Given the description of an element on the screen output the (x, y) to click on. 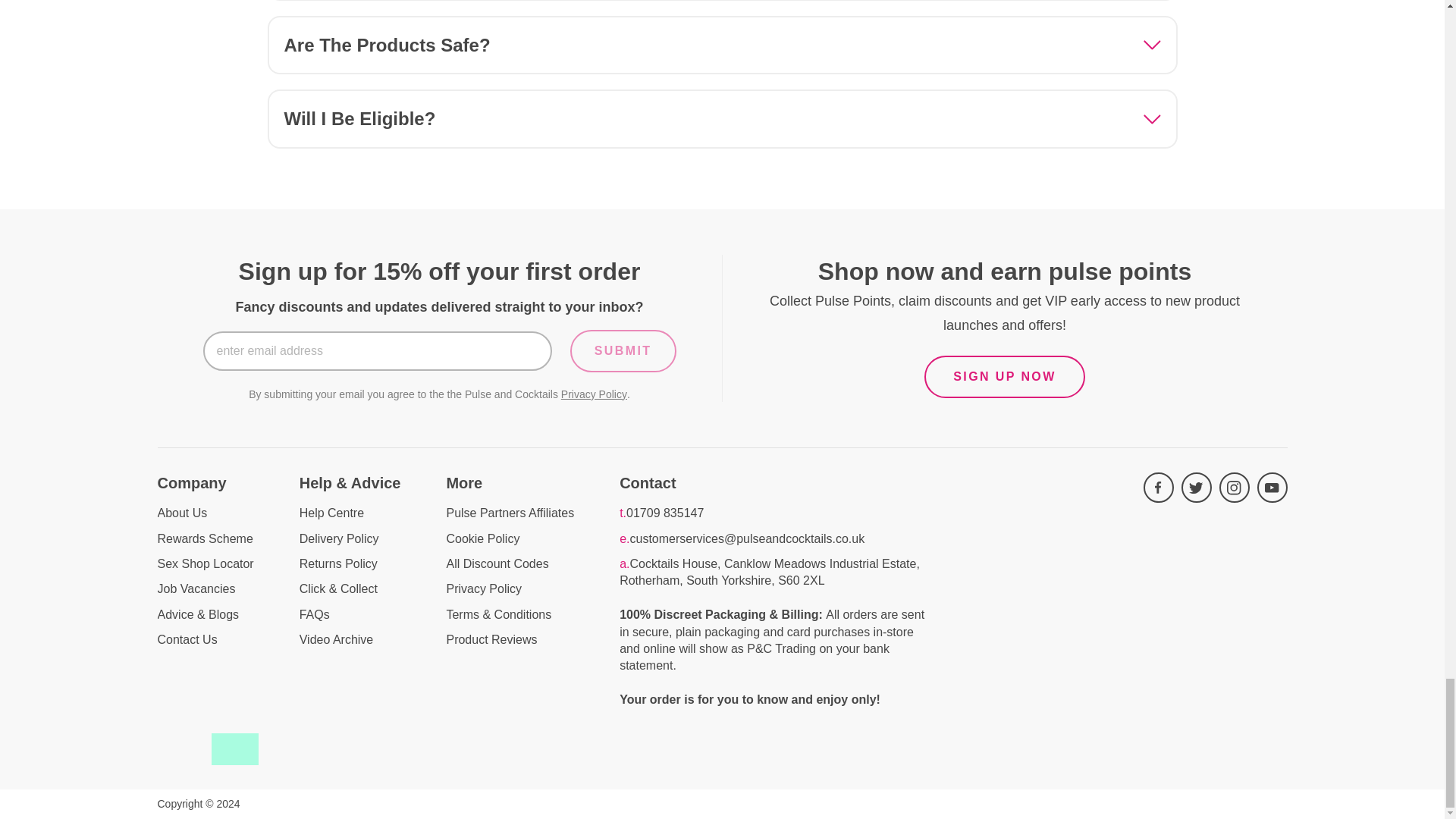
twitter (1195, 487)
youtube (1272, 487)
instagram (1234, 487)
facebook (1157, 487)
